Given the description of an element on the screen output the (x, y) to click on. 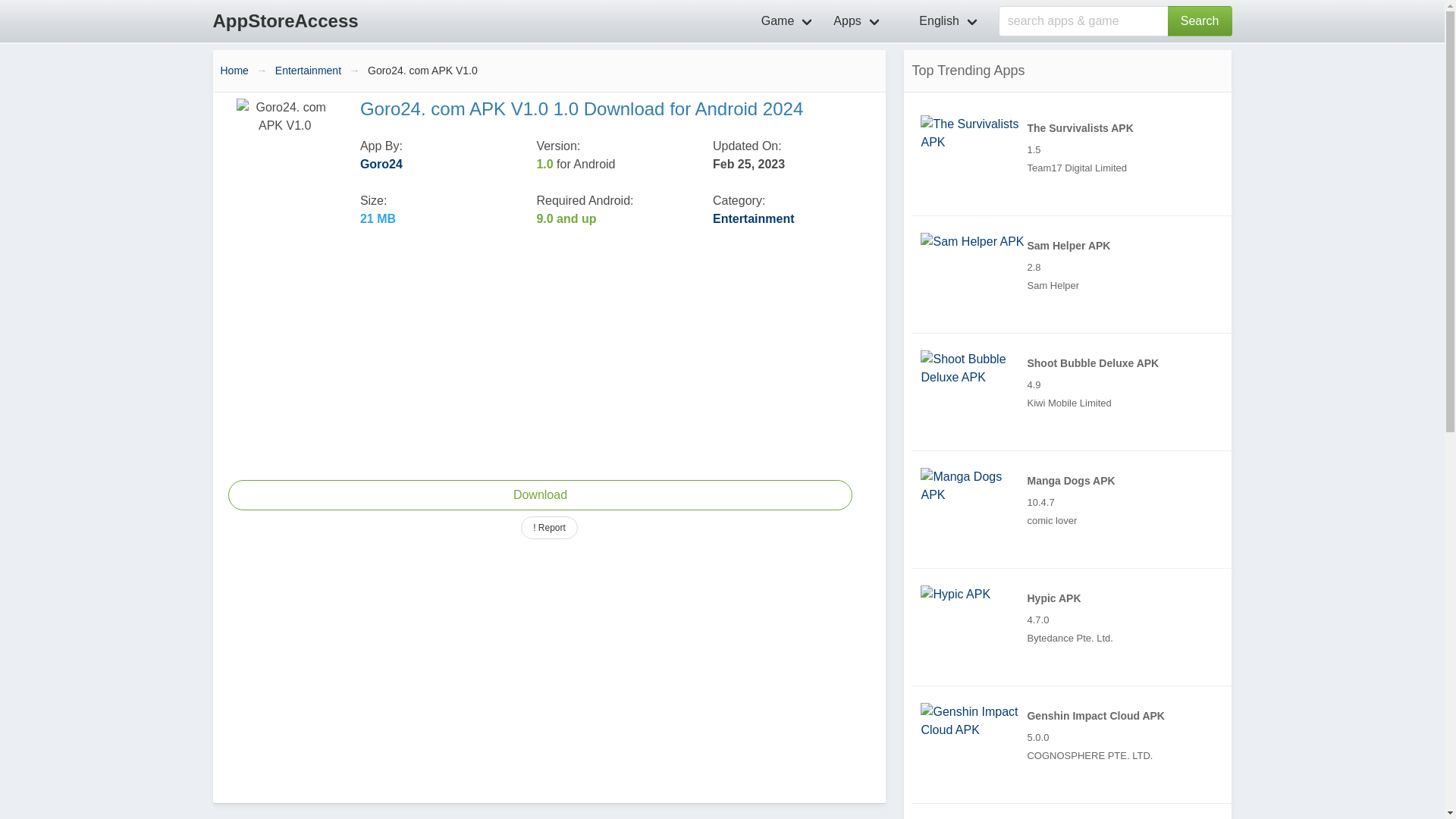
The Survivalists APK (1075, 156)
Genshin Impact Cloud APK (1075, 744)
Goro24. com APK V1.0 1.0 Download for Android 2024 (539, 494)
Goro24. com APK V1.0 1.0 Download for Android 2024 icon (284, 146)
Sam Helper APK (1075, 274)
Report Problem for this APP (549, 527)
Genshin Impact Cloud APK (973, 720)
BSD Brawl APK (1075, 816)
Hypic APK (1075, 627)
Hypic APK (955, 594)
